Given the description of an element on the screen output the (x, y) to click on. 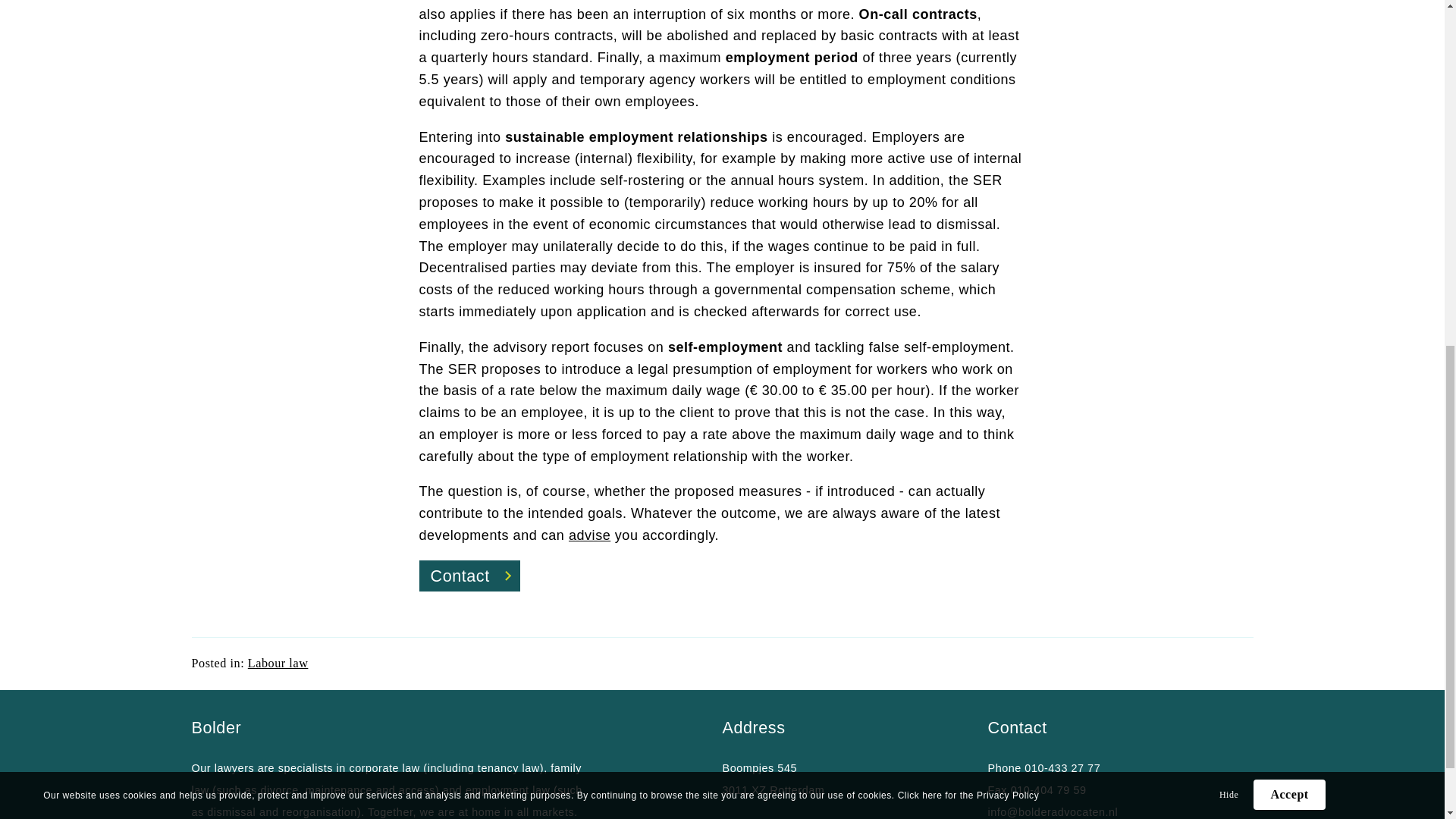
corporate law (384, 767)
family law (385, 779)
employment law (507, 789)
Accept (1288, 144)
010-433 27 77 (1062, 767)
Labour law (277, 663)
Click here (920, 145)
Contact (469, 576)
Accept the use of cookies on this website. (1288, 144)
advise (589, 534)
